Given the description of an element on the screen output the (x, y) to click on. 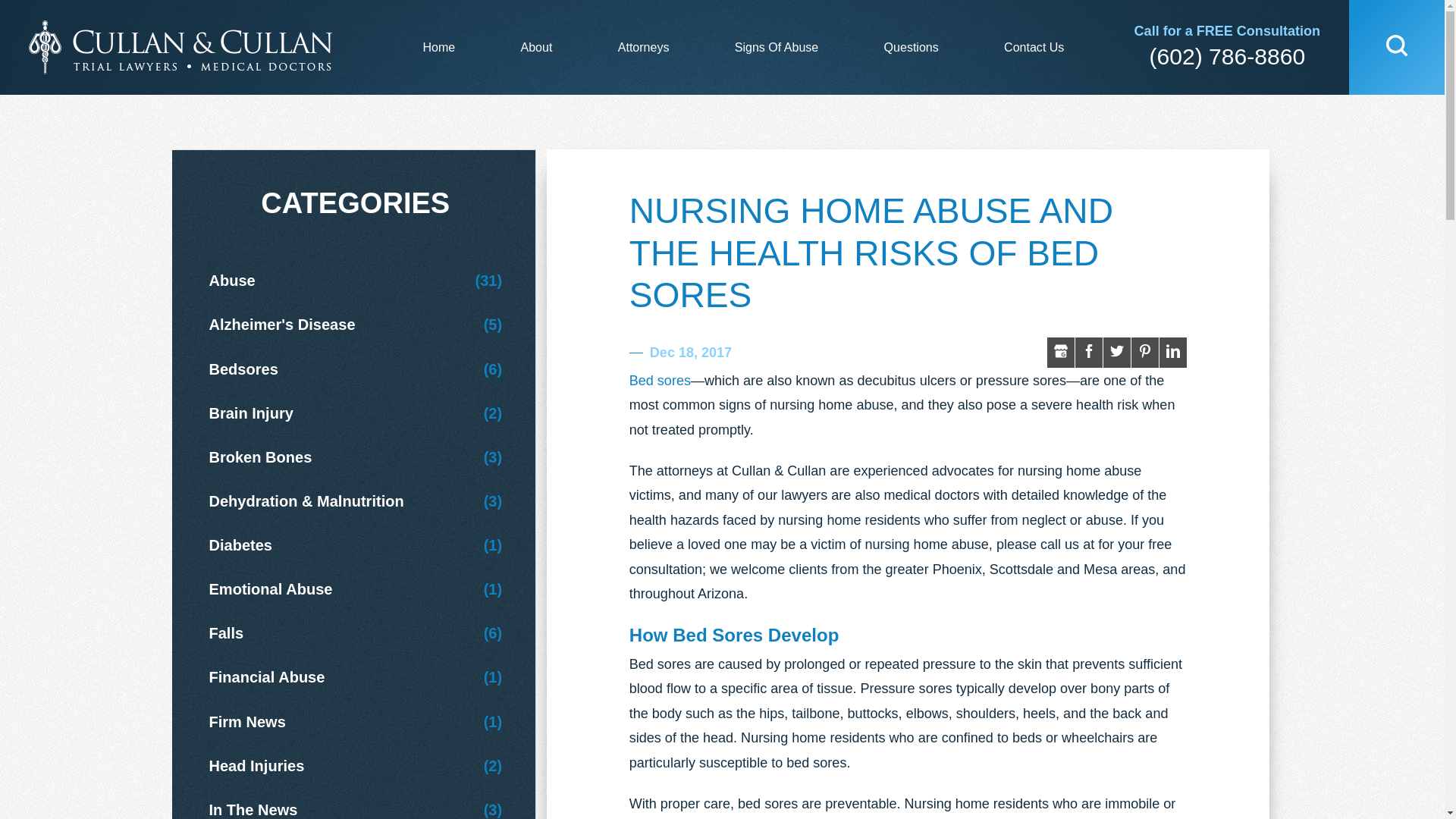
Open the accessibility options menu (88, 18)
Attorneys (643, 47)
Home (438, 47)
Signs Of Abuse (776, 47)
About (536, 47)
